Given the description of an element on the screen output the (x, y) to click on. 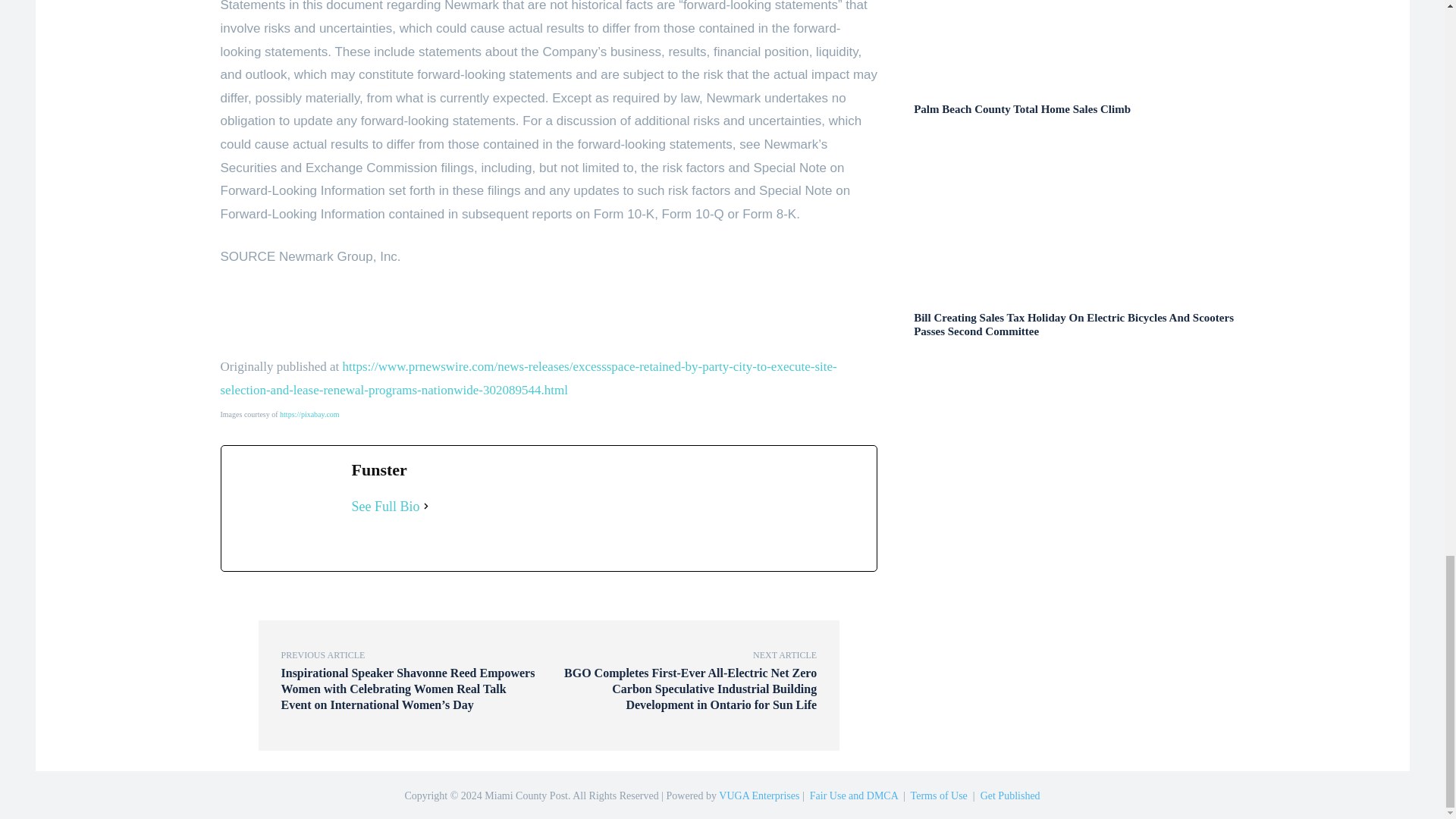
Palm Beach County Total Home Sales Climb (1022, 109)
See Full Bio (386, 506)
